Given the description of an element on the screen output the (x, y) to click on. 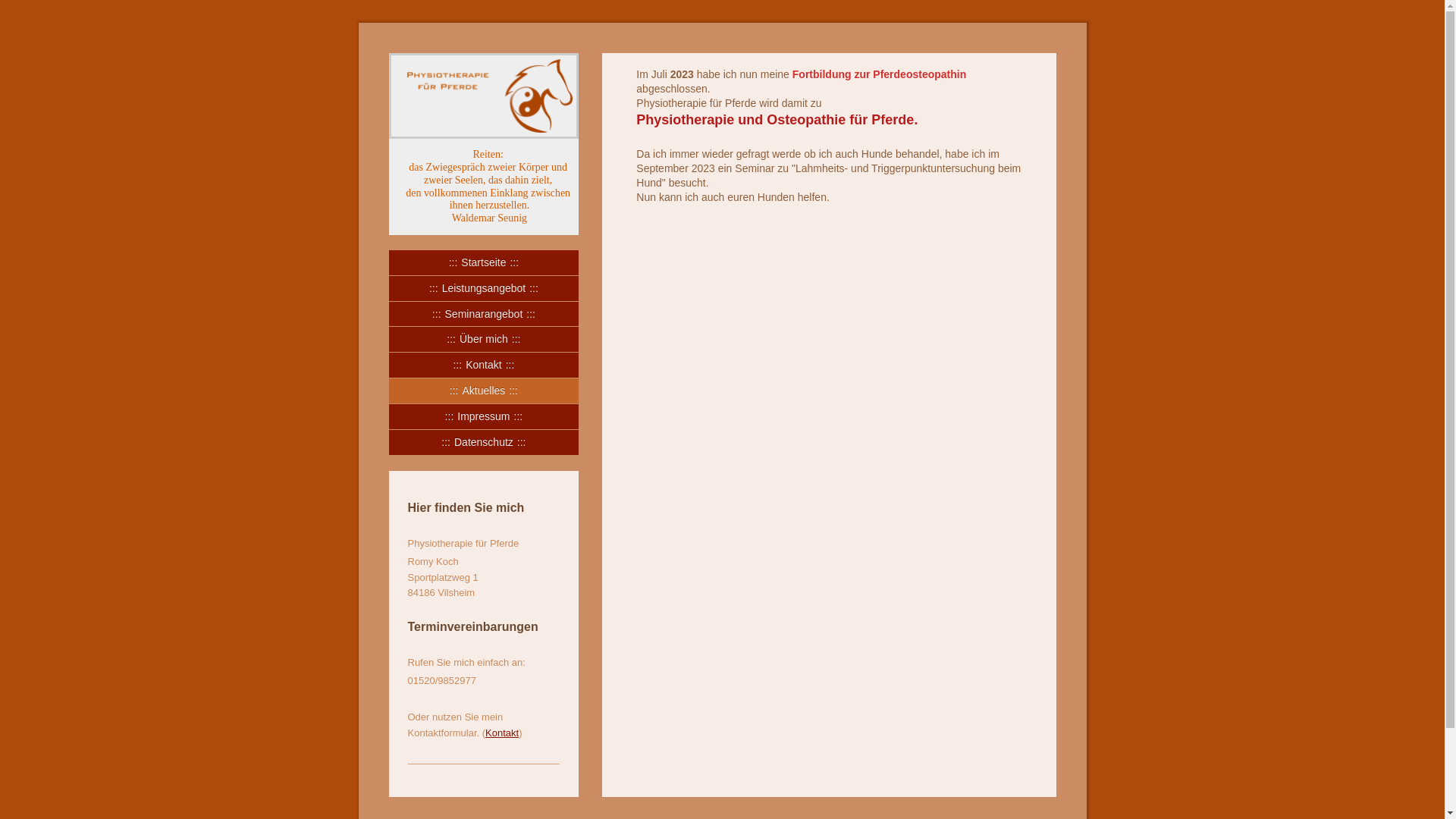
Aktuelles Element type: text (483, 390)
Kontakt Element type: text (483, 364)
Startseite Element type: text (483, 262)
Kontakt Element type: text (501, 732)
Datenschutz Element type: text (483, 442)
Impressum Element type: text (483, 416)
Leistungsangebot Element type: text (483, 288)
Seminarangebot Element type: text (483, 313)
